Given the description of an element on the screen output the (x, y) to click on. 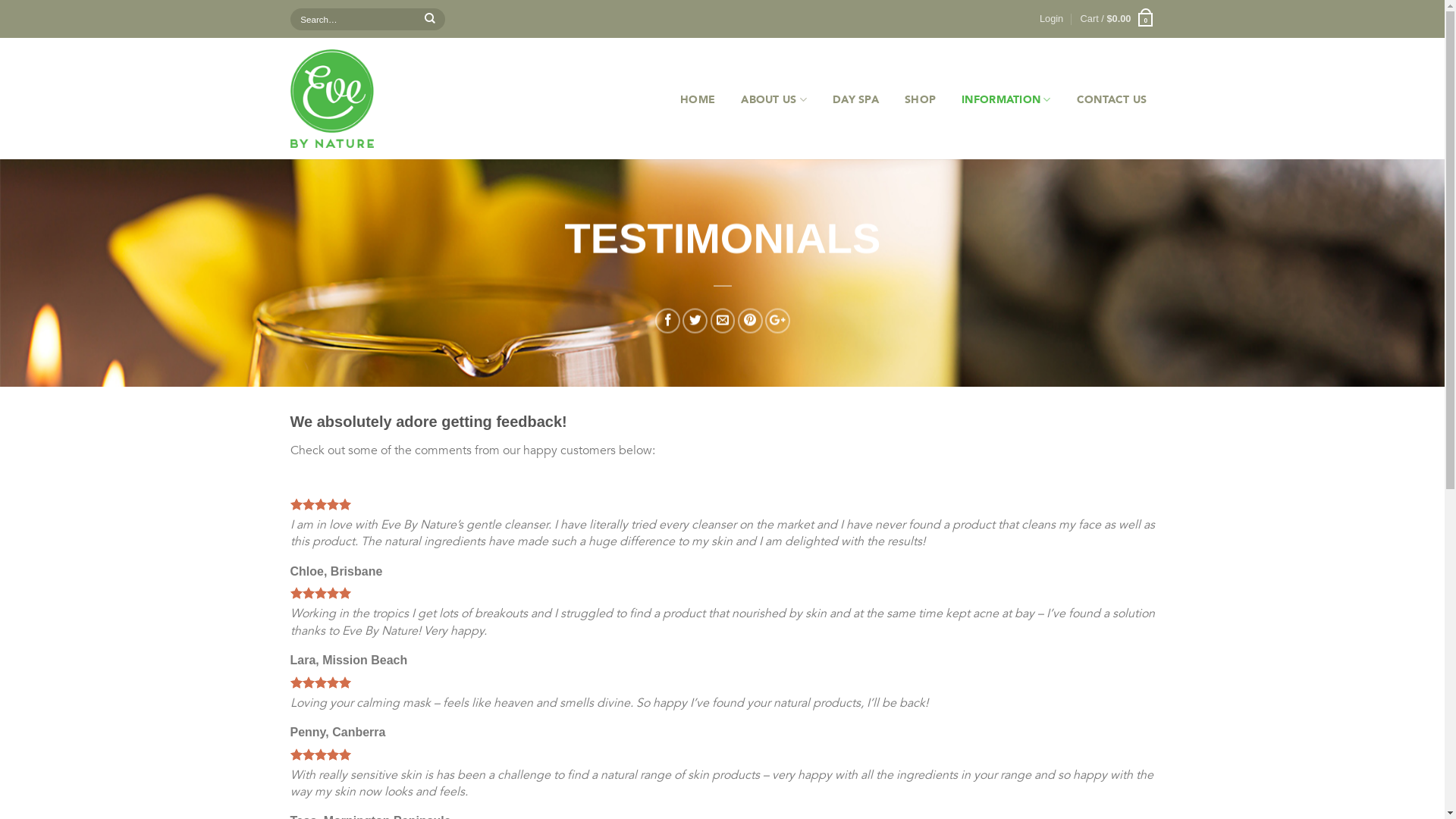
CONTACT US Element type: text (1111, 99)
INFORMATION Element type: text (1005, 99)
Cart / $0.00
0 Element type: text (1117, 18)
ABOUT US Element type: text (773, 99)
Skip to content Element type: text (0, 0)
DAY SPA Element type: text (855, 99)
Eve By Nature - Beautiful natural skin care products Element type: hover (368, 98)
HOME Element type: text (697, 99)
SHOP Element type: text (920, 99)
Login Element type: text (1051, 18)
